Given the description of an element on the screen output the (x, y) to click on. 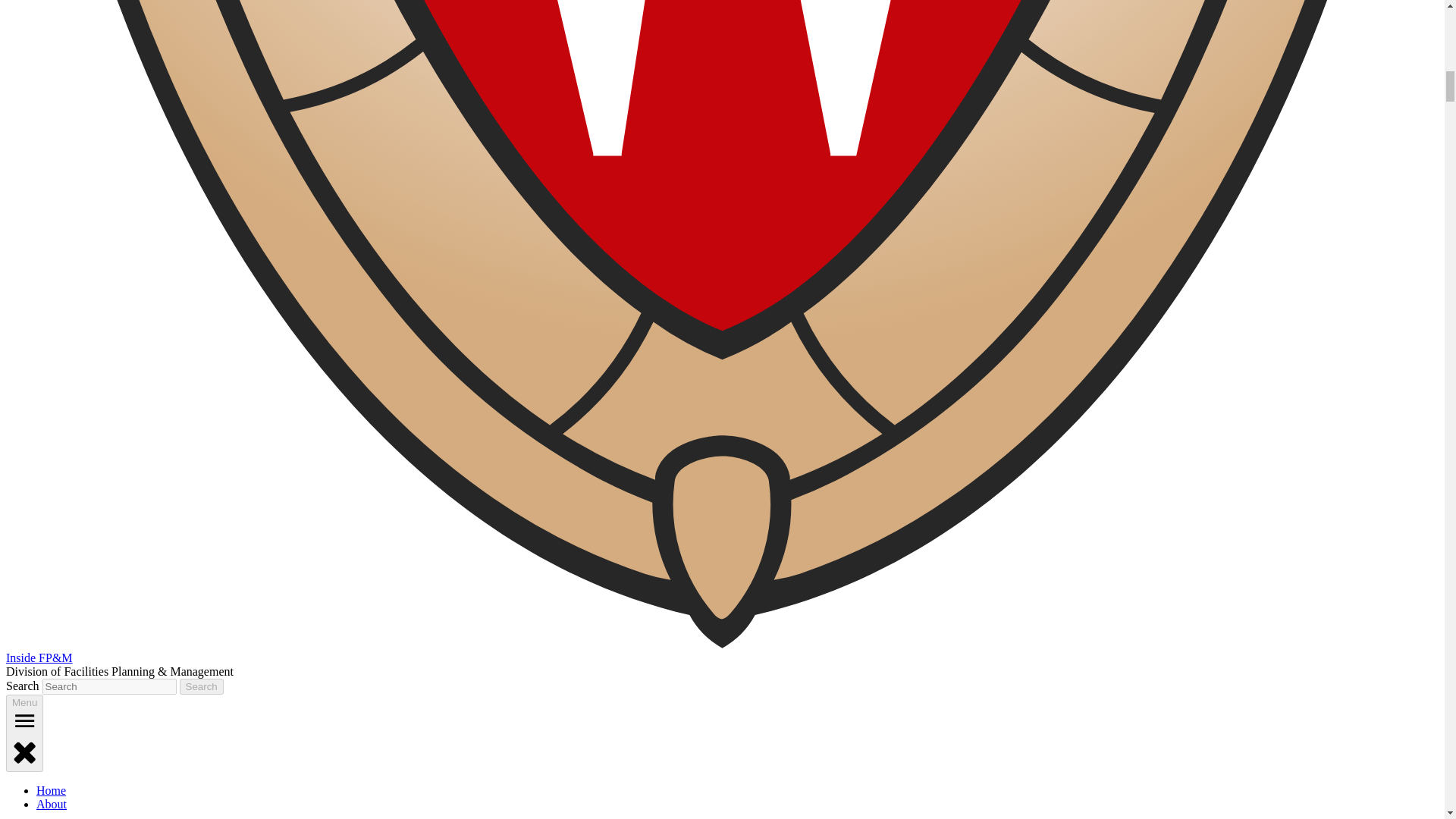
Search (201, 686)
Search (201, 686)
Search (201, 686)
Home (50, 789)
open menu (24, 720)
